Given the description of an element on the screen output the (x, y) to click on. 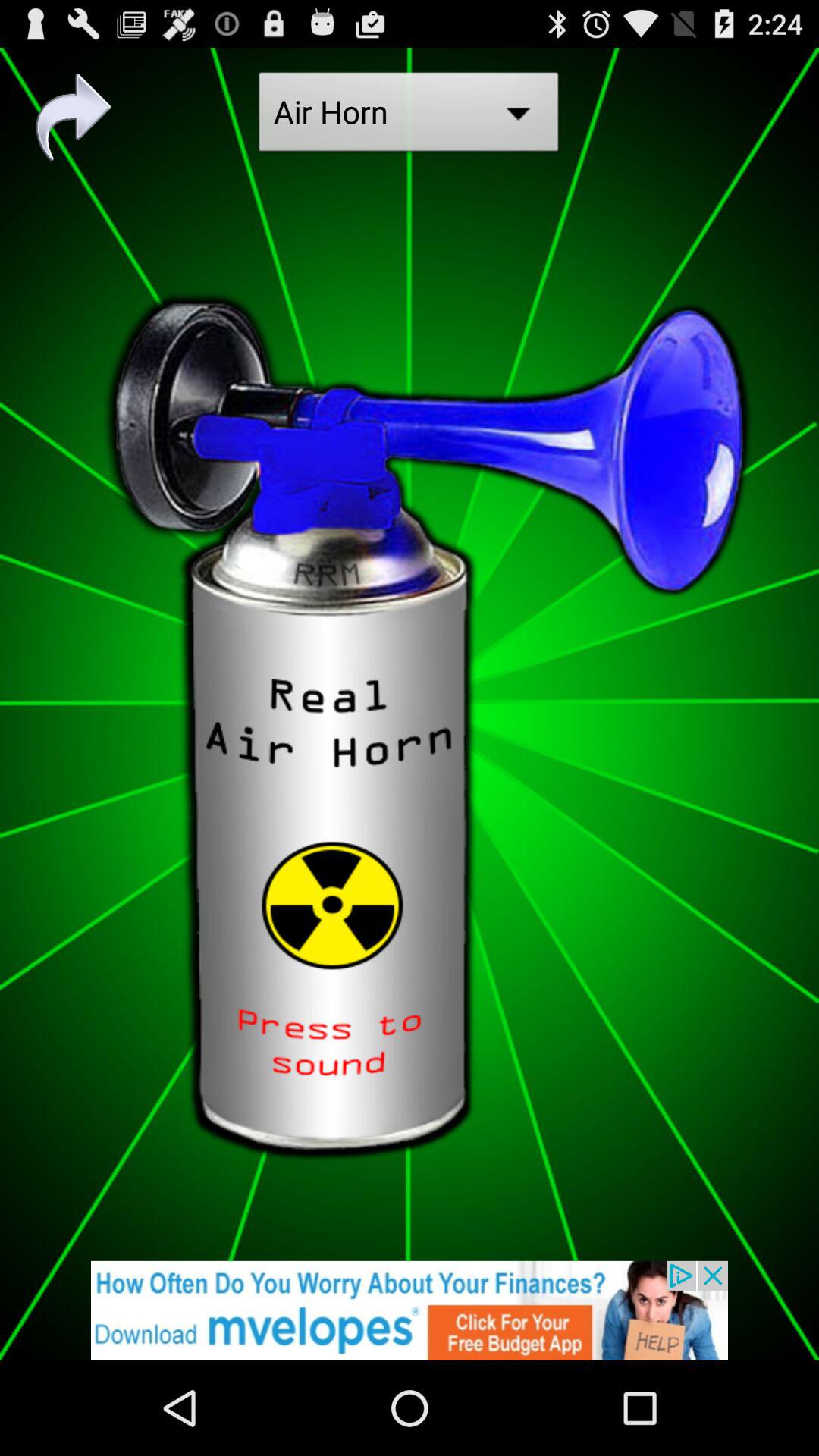
click on advertisement (409, 1310)
